Given the description of an element on the screen output the (x, y) to click on. 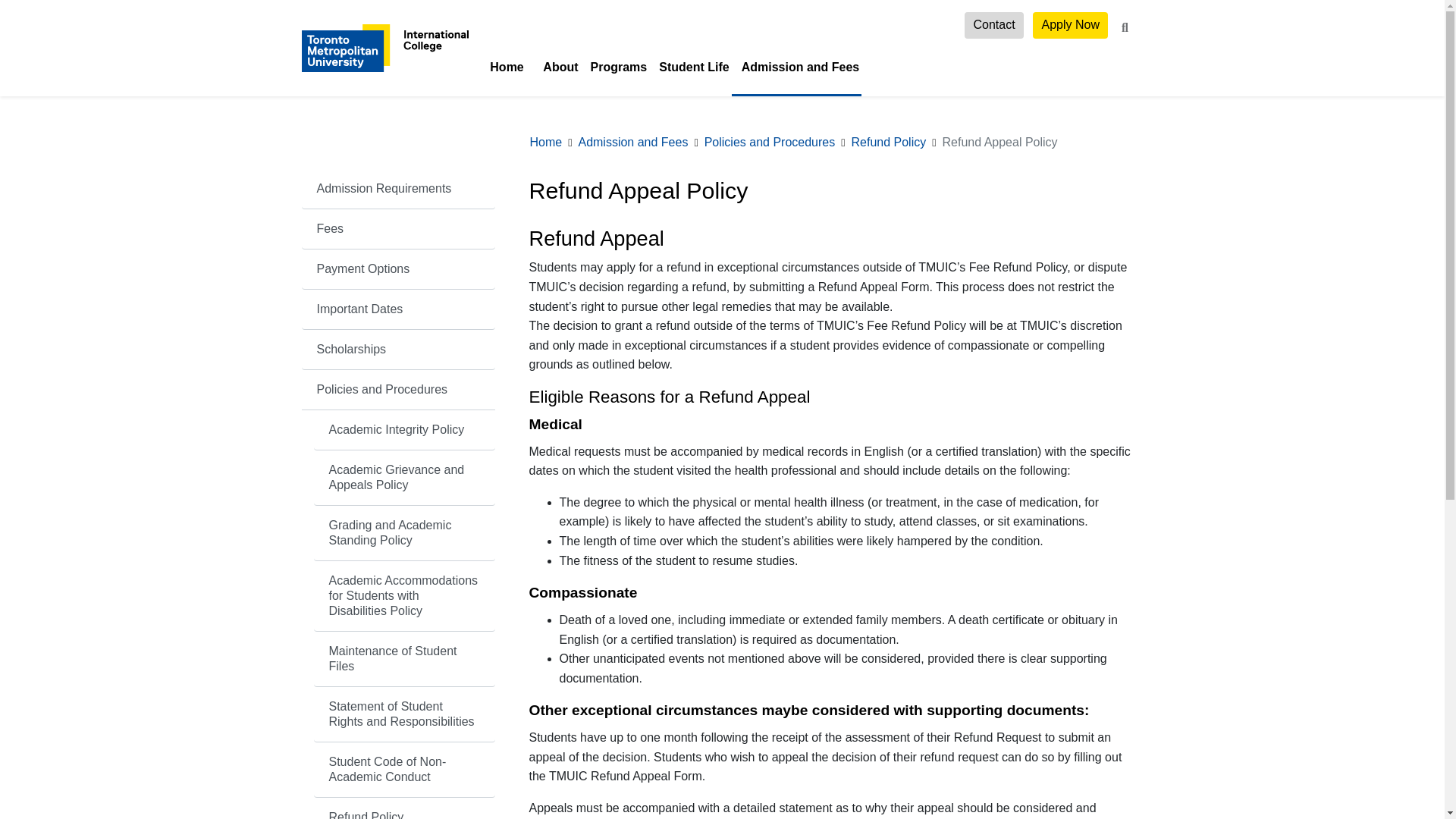
Home (507, 67)
Student Life (689, 67)
Apply Now (1070, 25)
Toronto Metropolitan University International College (384, 46)
Contact (993, 25)
About (557, 67)
Admission and Fees (796, 67)
Programs (614, 67)
